Given the description of an element on the screen output the (x, y) to click on. 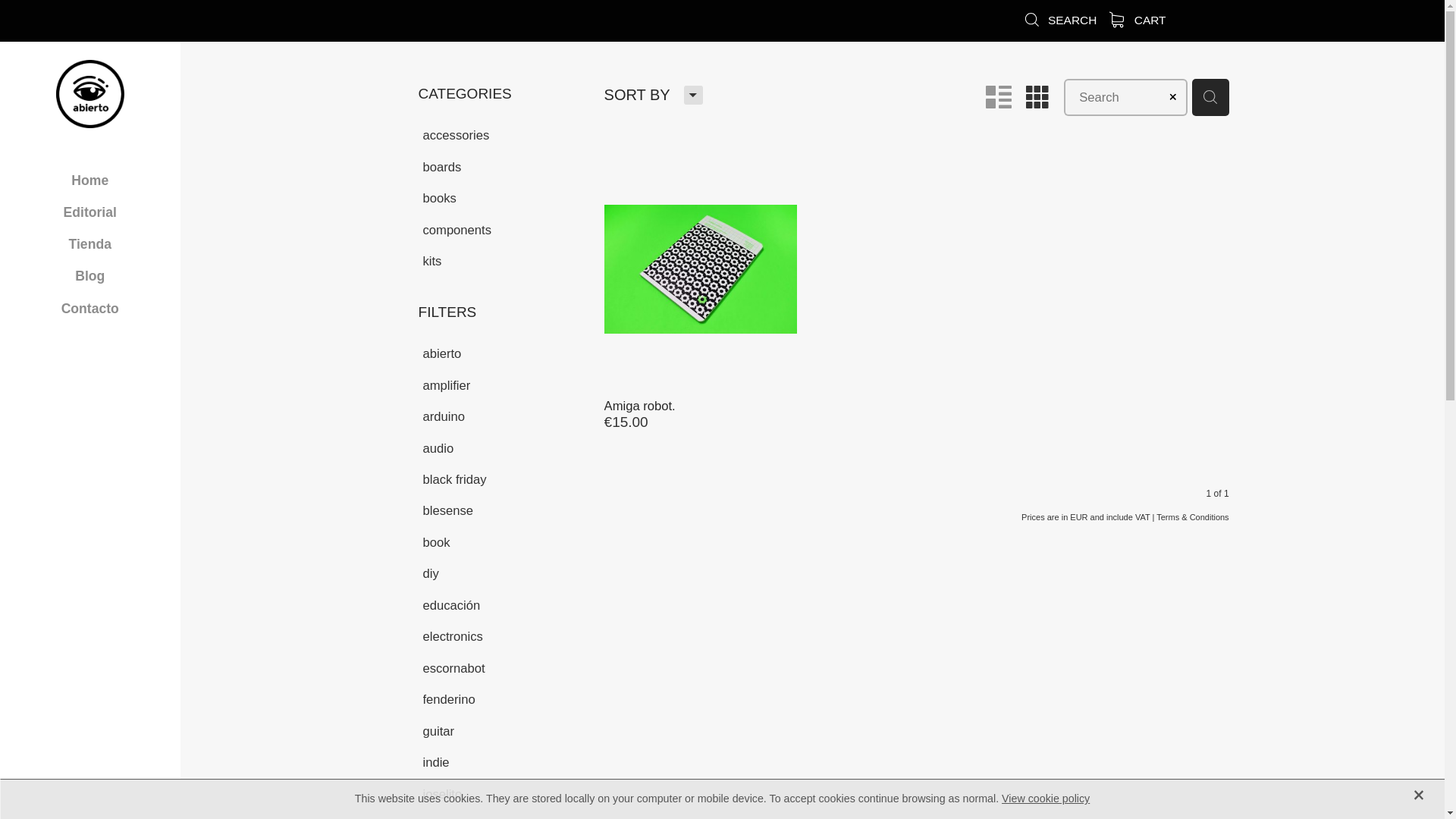
accessories Element type: text (501, 134)
View cookie policy Element type: text (1045, 798)
blesense Element type: text (501, 509)
escornabot Element type: text (501, 667)
abierto Element type: text (501, 352)
diy Element type: text (501, 572)
amplifier Element type: text (501, 383)
arduino Element type: text (501, 415)
Blog Element type: text (90, 275)
CART Element type: text (1137, 19)
joselito Element type: text (501, 793)
Home Element type: text (90, 180)
boards Element type: text (501, 165)
books Element type: text (501, 197)
Amiga robot. Element type: text (639, 405)
book Element type: text (501, 541)
black friday Element type: text (501, 478)
components Element type: text (501, 228)
audio Element type: text (501, 446)
  Element type: text (700, 293)
X Element type: text (1418, 791)
Contacto Element type: text (90, 308)
kits Element type: text (501, 260)
electronics Element type: text (501, 635)
guitar Element type: text (501, 730)
Tienda Element type: text (90, 244)
fenderino Element type: text (501, 698)
Terms & Conditions Element type: text (1192, 516)
Editorial Element type: text (90, 212)
indie Element type: text (501, 761)
SEARCH Element type: text (1059, 19)
